Given the description of an element on the screen output the (x, y) to click on. 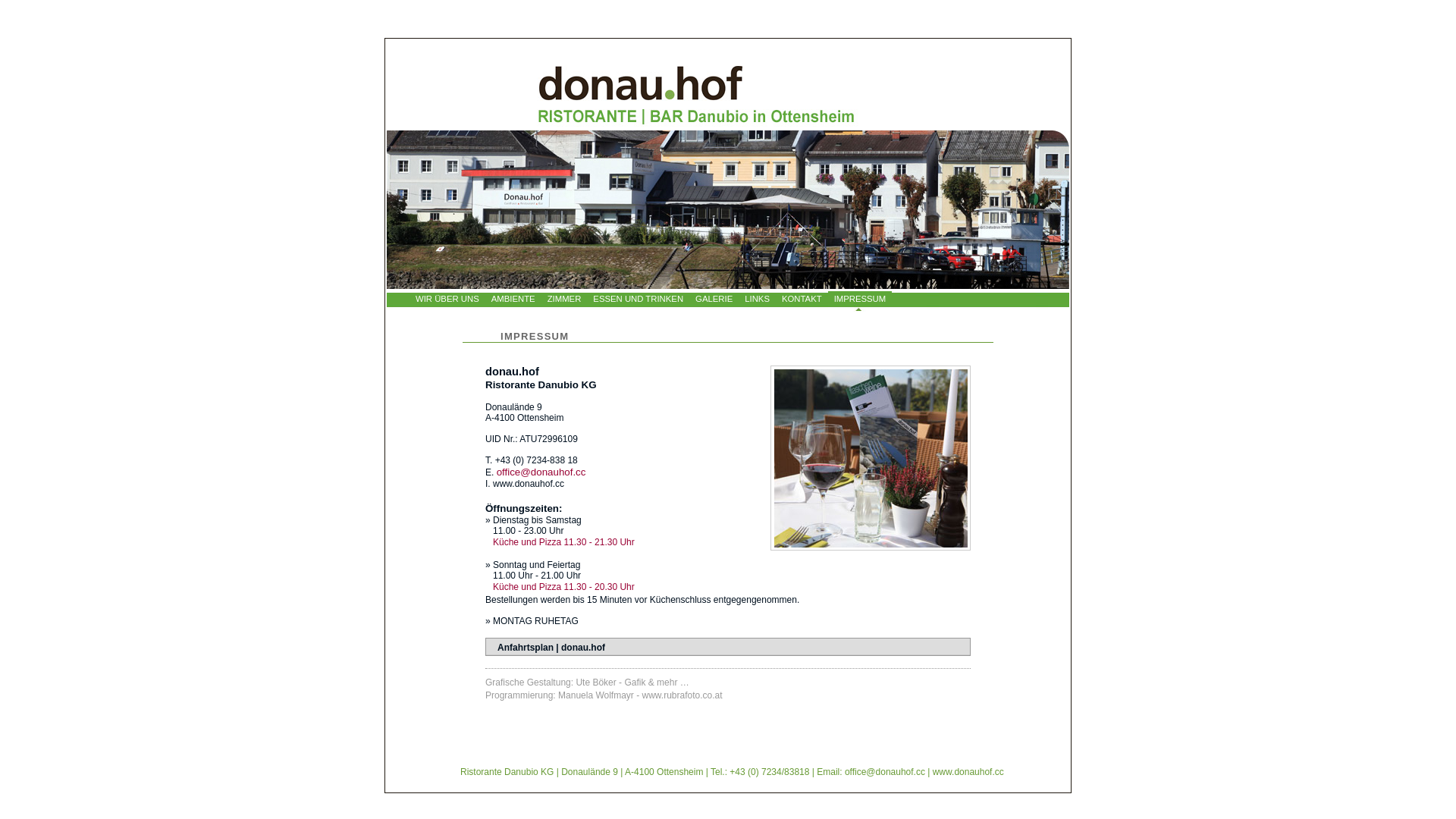
AMBIENTE Element type: text (513, 301)
LINKS Element type: text (756, 301)
KONTAKT Element type: text (801, 301)
ESSEN UND TRINKEN Element type: text (637, 301)
IMPRESSUM Element type: text (860, 301)
www.rubrafoto.co.at Element type: text (680, 695)
office@donauhof.cc Element type: text (541, 471)
ZIMMER Element type: text (564, 301)
GALERIE Element type: text (713, 301)
office@donauhof.cc Element type: text (884, 771)
